Given the description of an element on the screen output the (x, y) to click on. 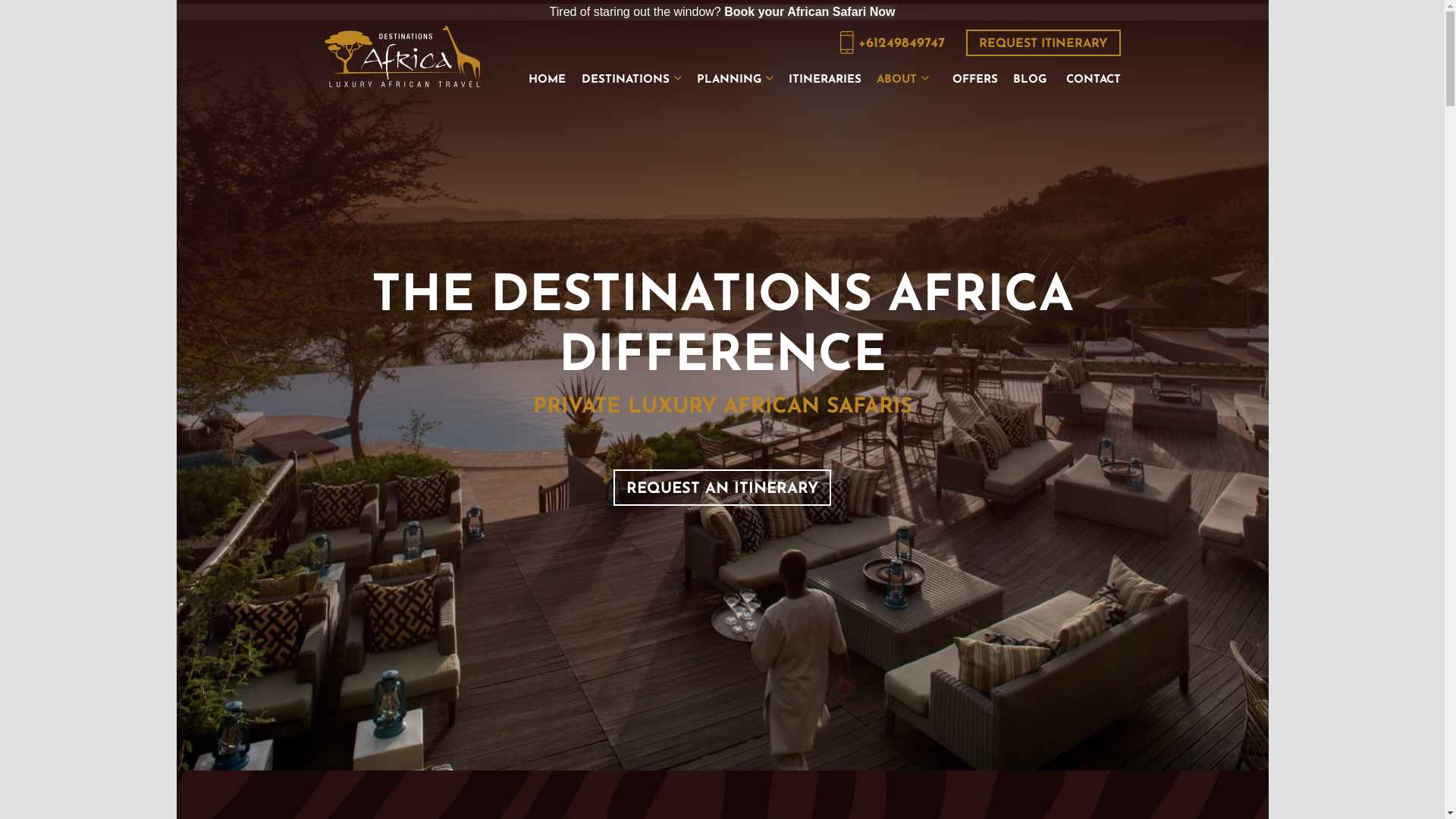
ITINERARIES Element type: text (825, 77)
CONTACT Element type: text (1093, 77)
DESTINATIONS Element type: text (630, 77)
REQUEST ITINERARY Element type: text (1043, 42)
Book your African Safari Now Element type: text (809, 11)
HOME Element type: text (546, 77)
ABOUT Element type: text (902, 77)
PLANNING Element type: text (734, 77)
REQUEST AN ITINERARY Element type: text (722, 487)
OFFERS Element type: text (974, 77)
BLOG Element type: text (1029, 77)
+61249849747 Element type: text (892, 42)
